Given the description of an element on the screen output the (x, y) to click on. 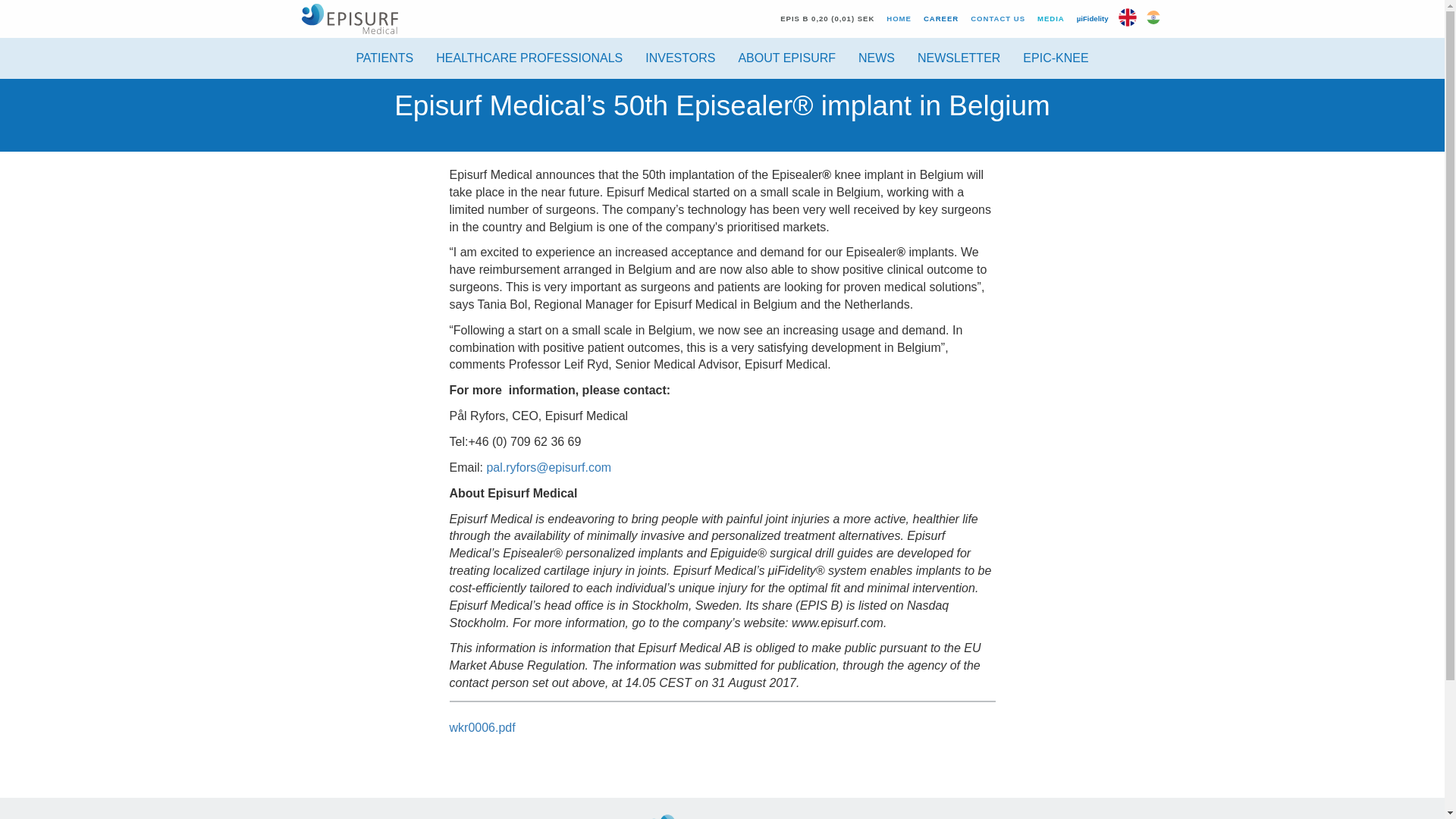
HEALTHCARE PROFESSIONALS (529, 57)
CAREER (940, 18)
NEWSLETTER (958, 57)
Career (940, 18)
PATIENTS (384, 57)
ABOUT EPISURF (786, 57)
News (876, 57)
CONTACT US (996, 18)
Patients (384, 57)
EPISURF (349, 18)
